Given the description of an element on the screen output the (x, y) to click on. 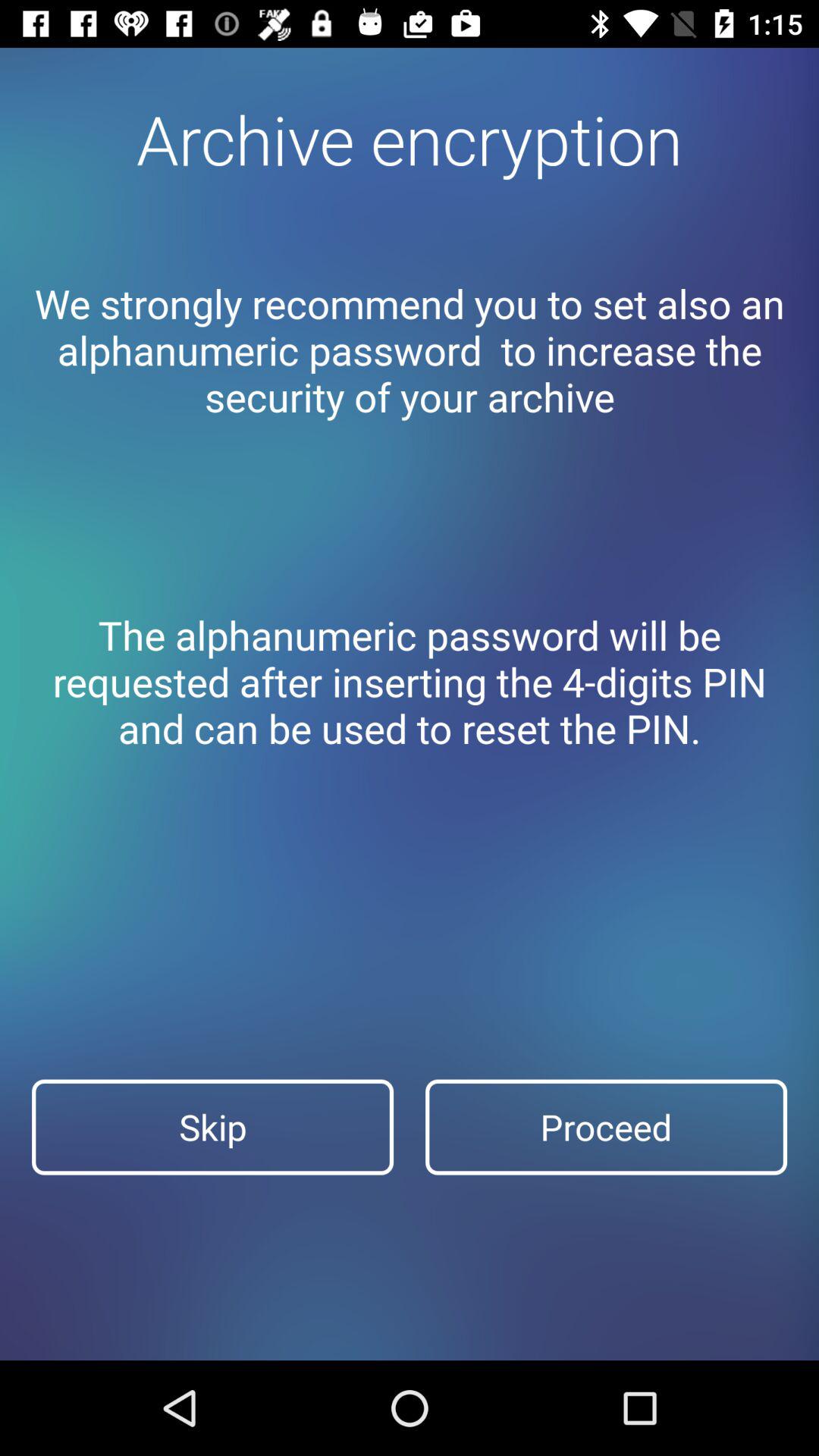
select skip icon (212, 1127)
